Given the description of an element on the screen output the (x, y) to click on. 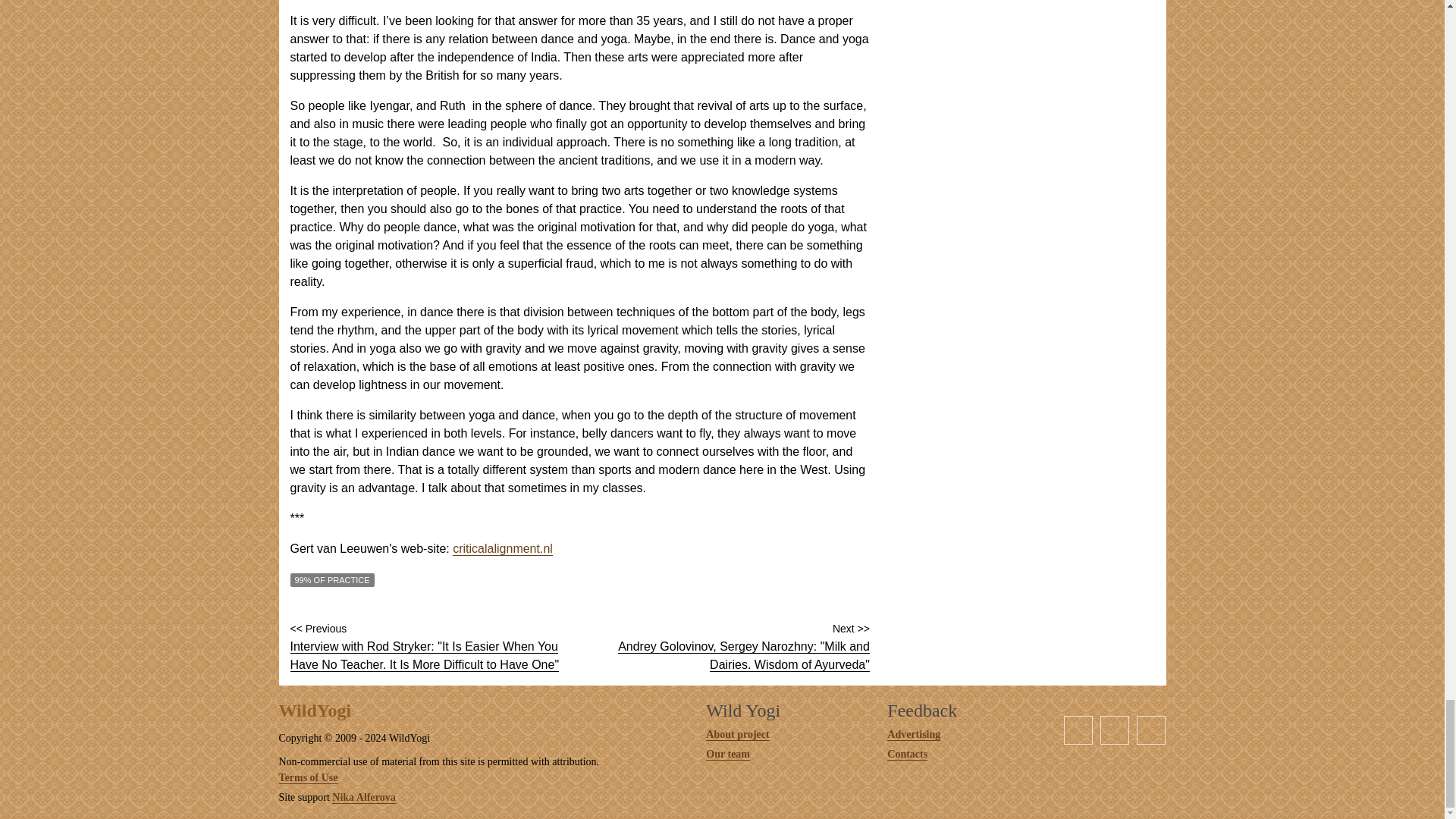
criticalalignment.nl (502, 549)
